Given the description of an element on the screen output the (x, y) to click on. 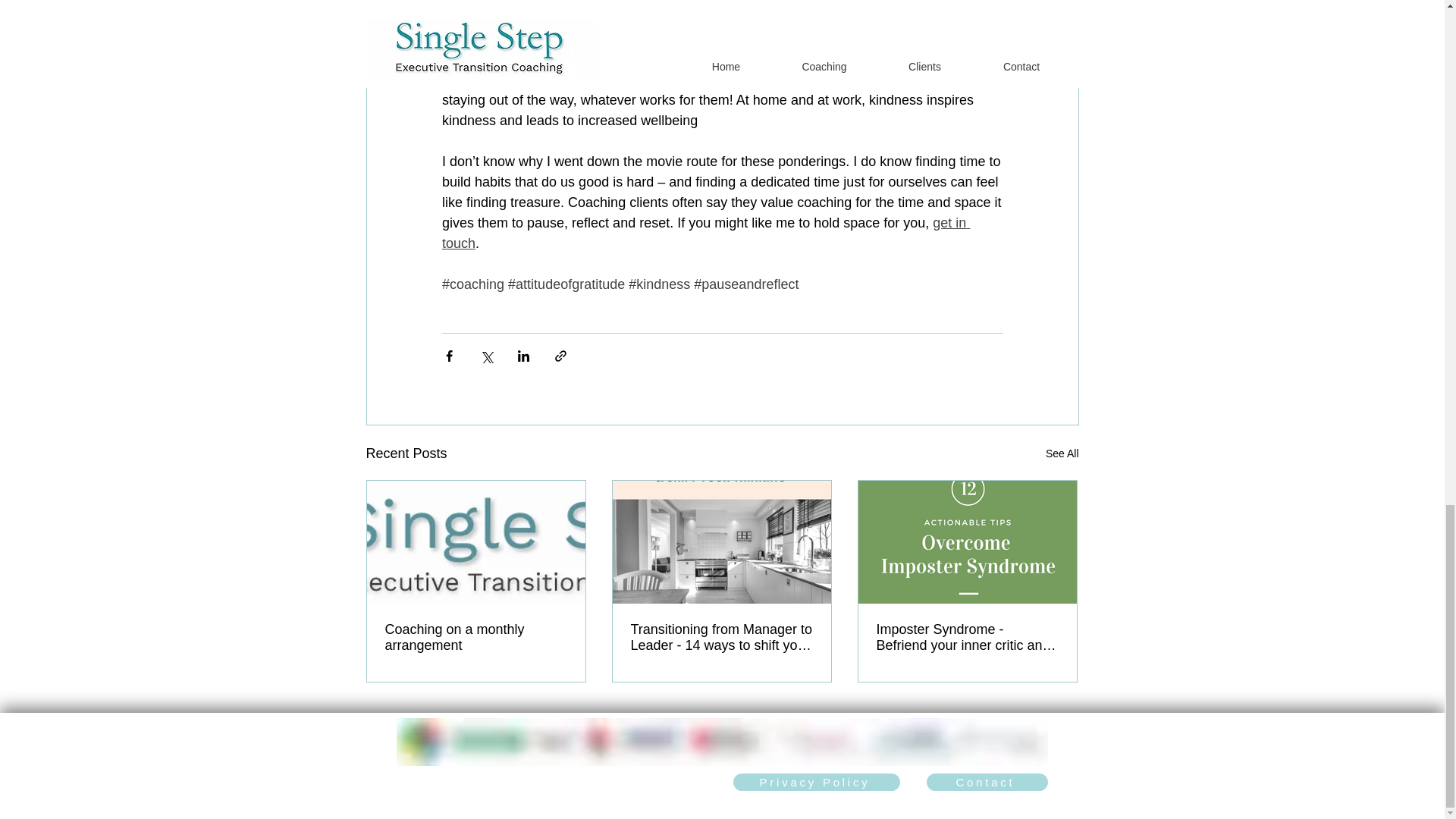
See All (1061, 454)
Coaching on a monthly arrangement (476, 637)
Privacy Policy (815, 782)
Contact (987, 782)
get in touch (705, 232)
